Given the description of an element on the screen output the (x, y) to click on. 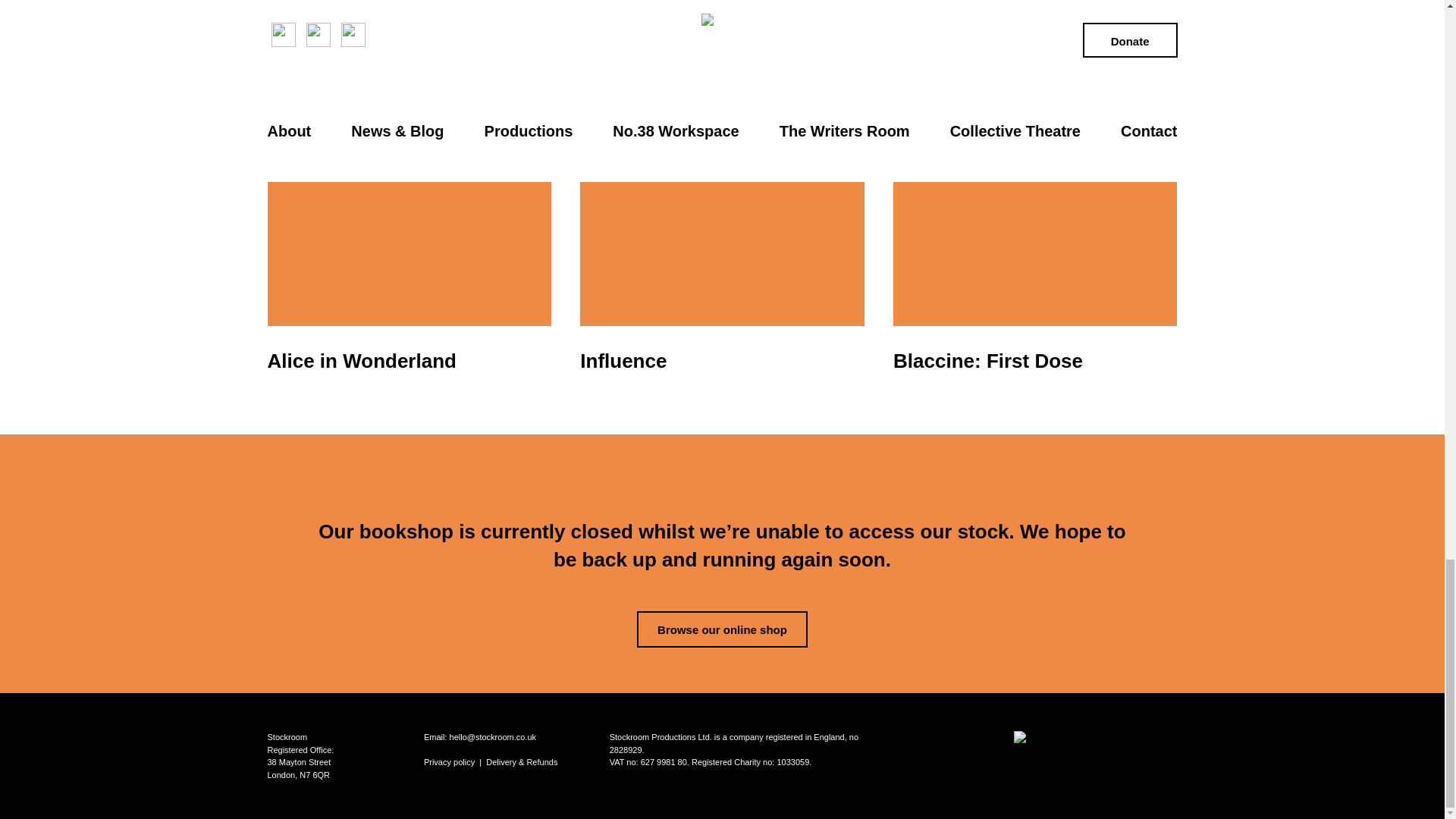
Browse our online shop (722, 628)
Alice in Wonderland (408, 262)
Privacy policy (448, 761)
Blaccine: First Dose (1034, 262)
Influence (721, 262)
